Given the description of an element on the screen output the (x, y) to click on. 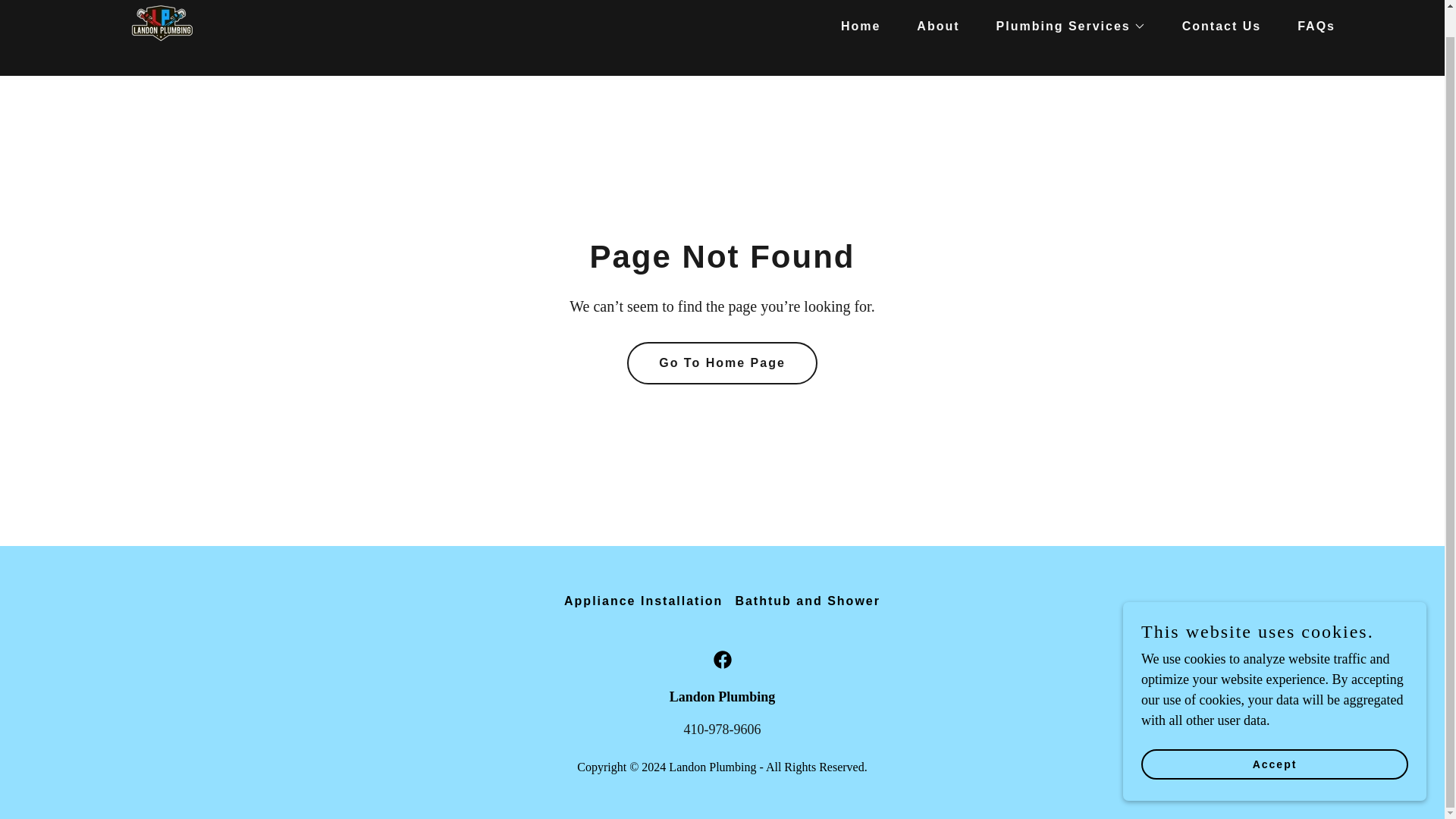
Landon Plumbing (162, 22)
FAQs (1310, 25)
Home (854, 25)
Contact Us (1215, 25)
Plumbing Services (1064, 25)
About (931, 25)
